Given the description of an element on the screen output the (x, y) to click on. 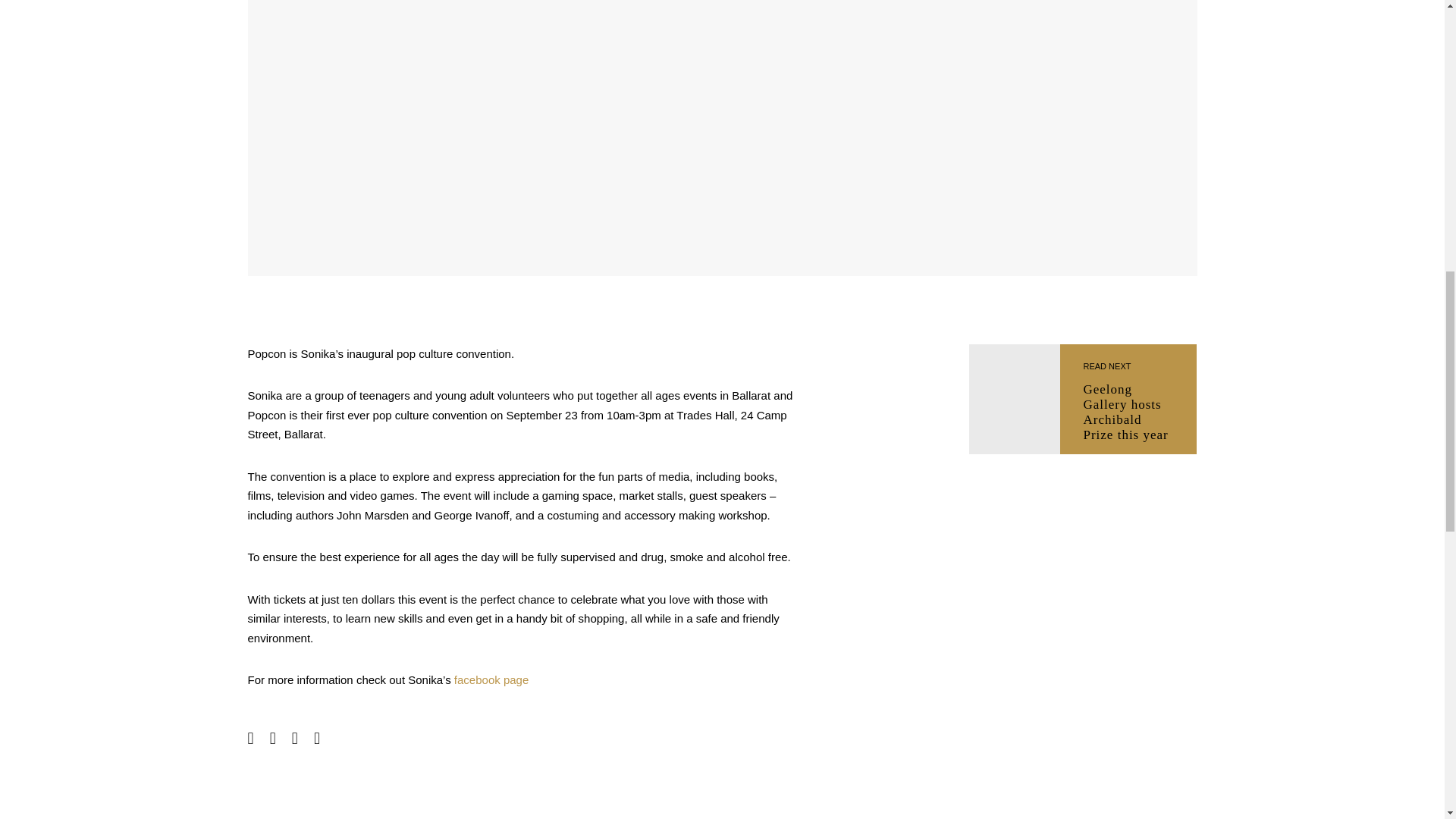
facebook page (1128, 399)
